Given the description of an element on the screen output the (x, y) to click on. 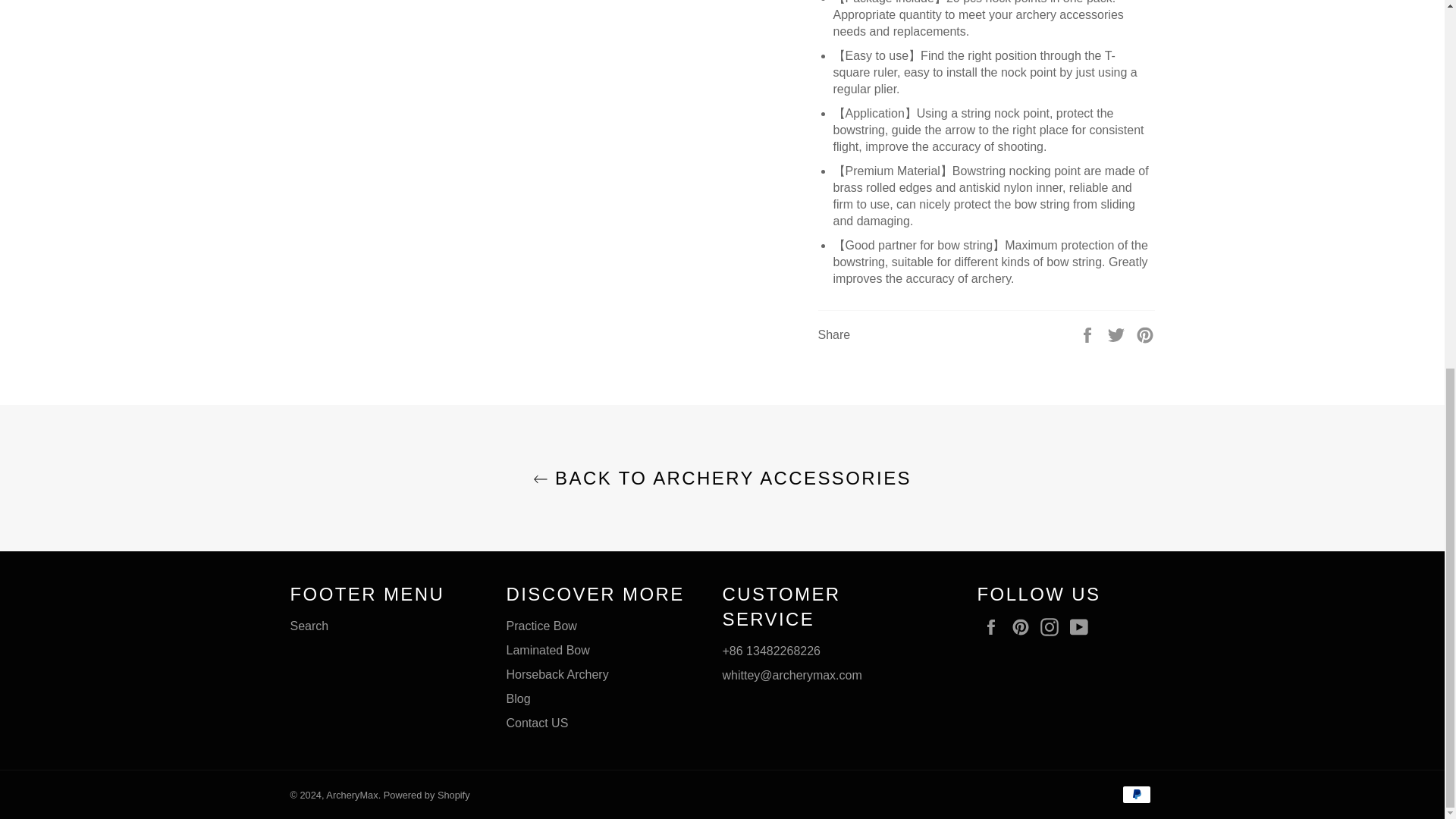
News (518, 698)
ArcheryMax on Facebook (994, 627)
Pin on Pinterest (1144, 333)
Alibow  Tang "Dunhuang" Laminated bow (547, 649)
CONTACT (537, 722)
ArcheryMax on Pinterest (1023, 627)
ArcheryMax on Instagram (1053, 627)
ArcheryMax on YouTube (1083, 627)
Tweet on Twitter (1117, 333)
Share on Facebook (1088, 333)
